Given the description of an element on the screen output the (x, y) to click on. 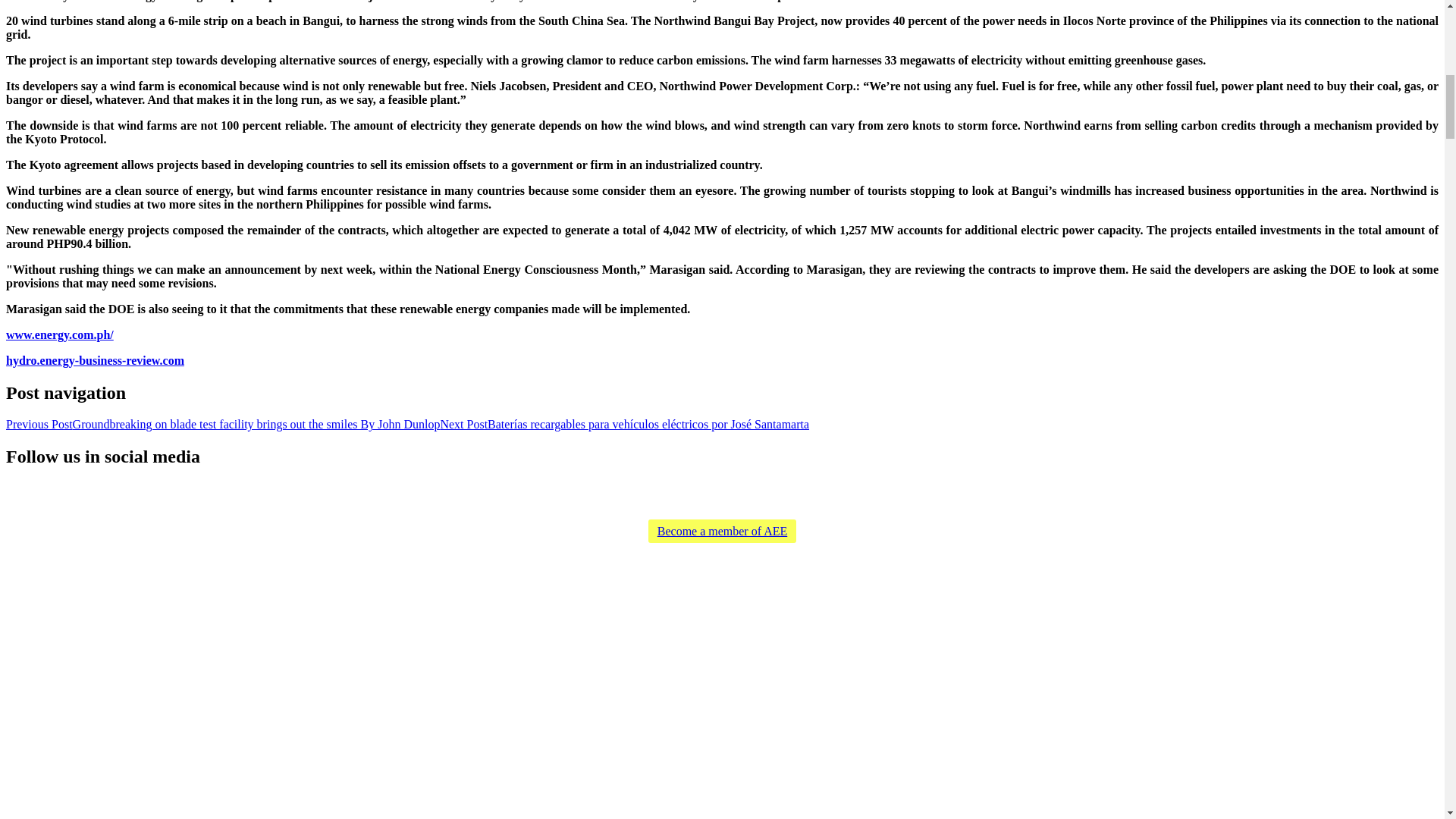
twitter (709, 495)
facebook (737, 495)
twitter (709, 504)
RSS (681, 495)
RSS (681, 504)
facebook (737, 504)
Become a member of AEE (721, 530)
flickr (790, 495)
hydro.energy-business-review.com (94, 359)
youtube (764, 504)
flickr (791, 504)
youtube (764, 495)
